Given the description of an element on the screen output the (x, y) to click on. 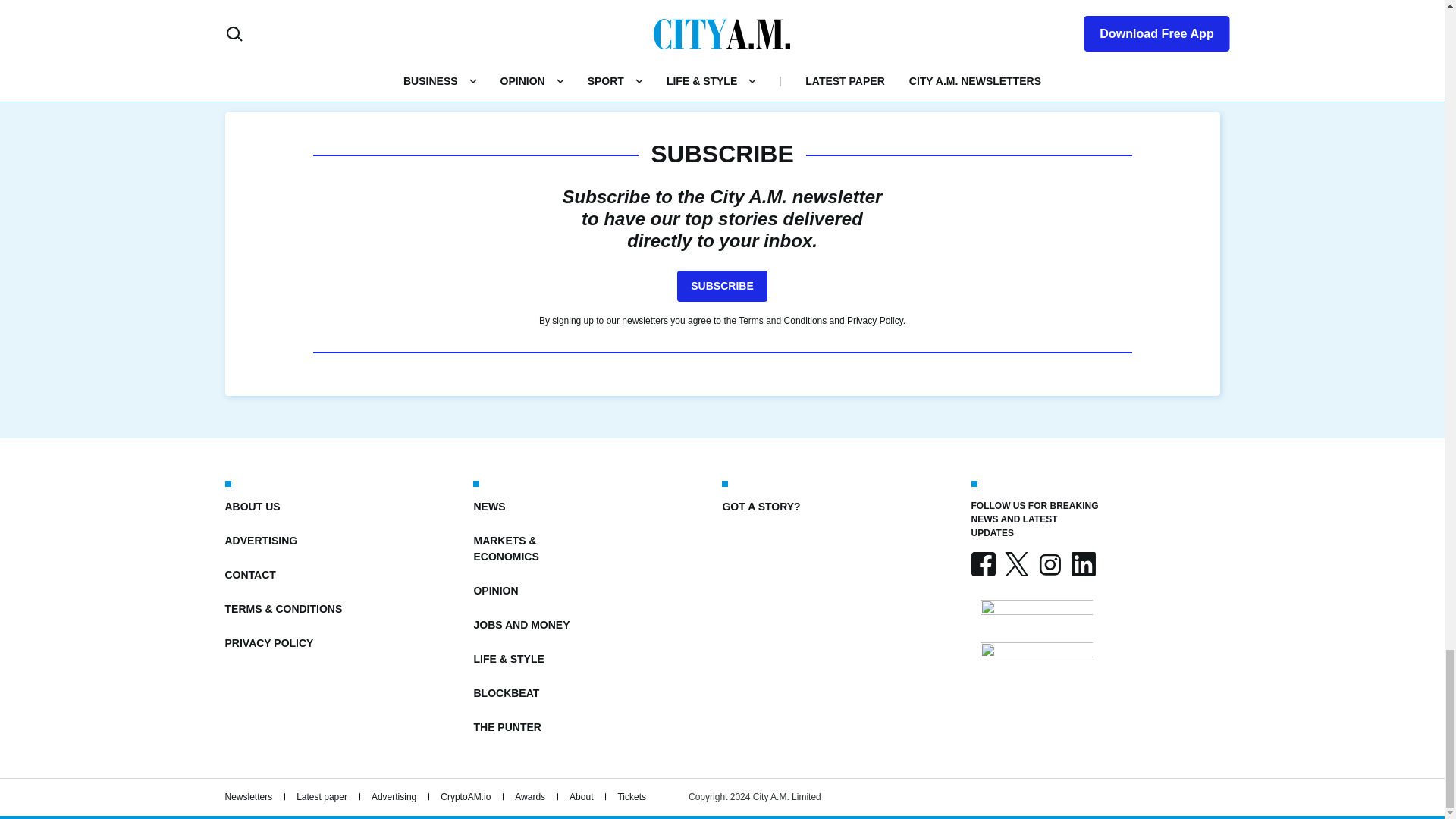
FACEBOOK (982, 564)
INSTAGRAM (1048, 564)
LINKEDIN (1082, 564)
X (1015, 564)
